Given the description of an element on the screen output the (x, y) to click on. 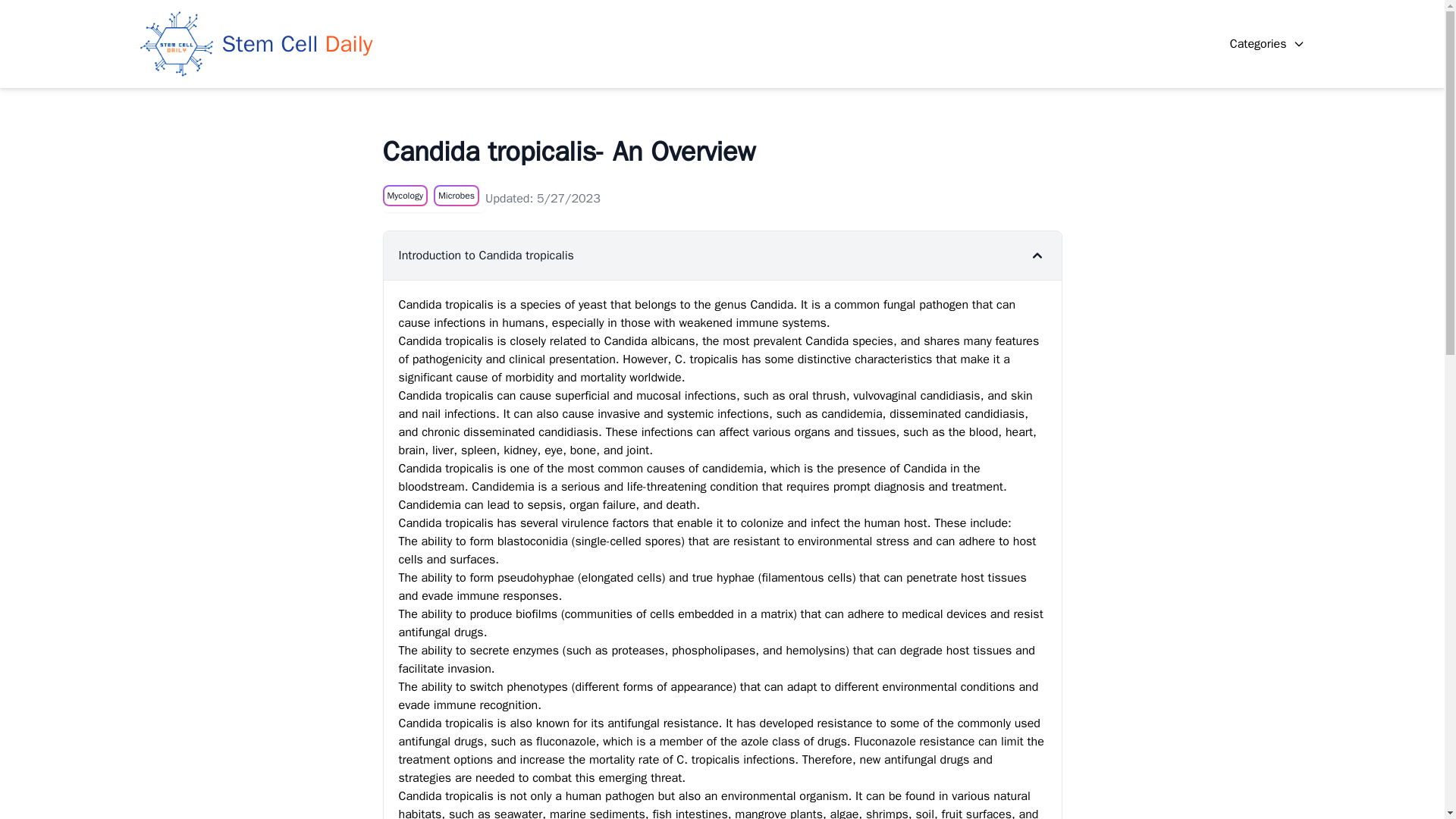
Categories (1267, 44)
Mycology (403, 195)
Stem Cell Daily (255, 43)
Microbes (456, 195)
Introduction to Candida tropicalis (722, 255)
Mycology (404, 195)
Microbes (456, 195)
